Given the description of an element on the screen output the (x, y) to click on. 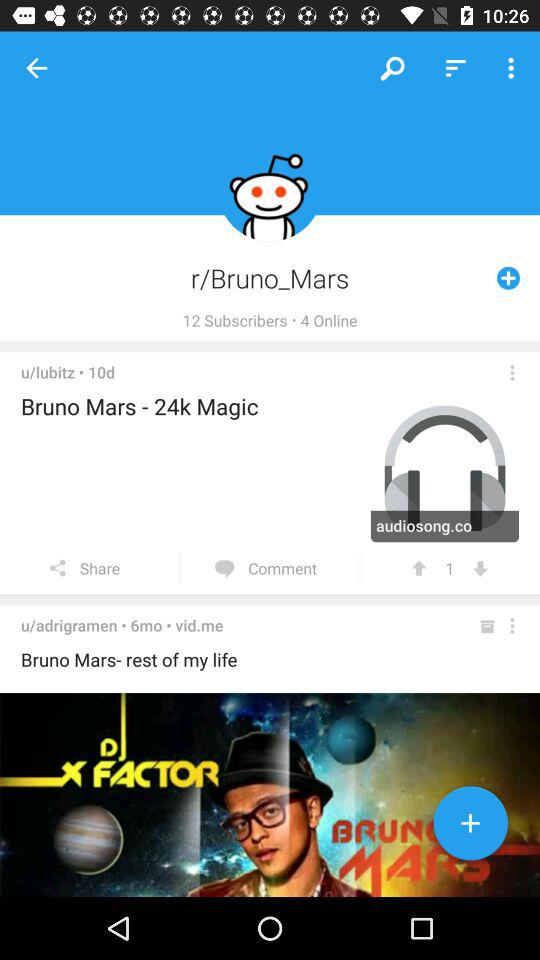
menu (512, 625)
